Given the description of an element on the screen output the (x, y) to click on. 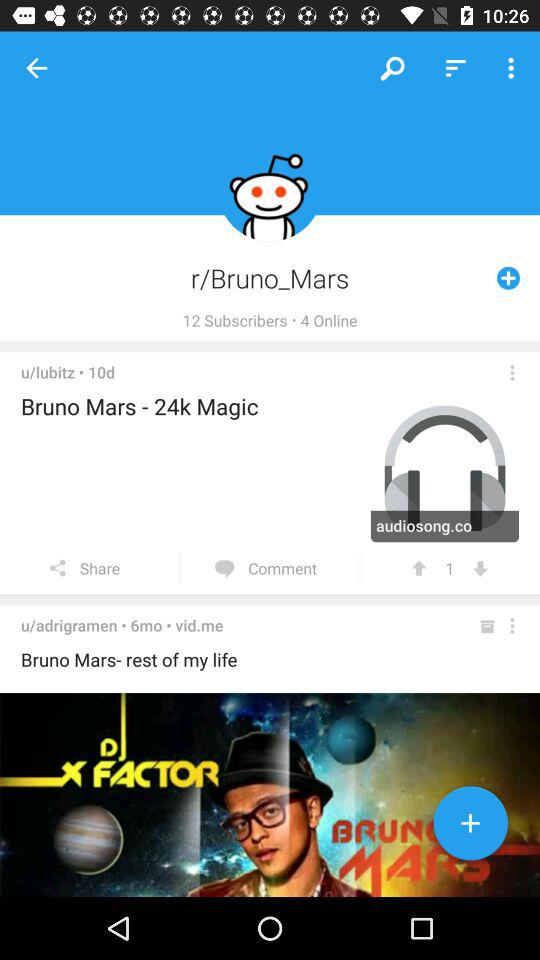
menu (512, 625)
